Given the description of an element on the screen output the (x, y) to click on. 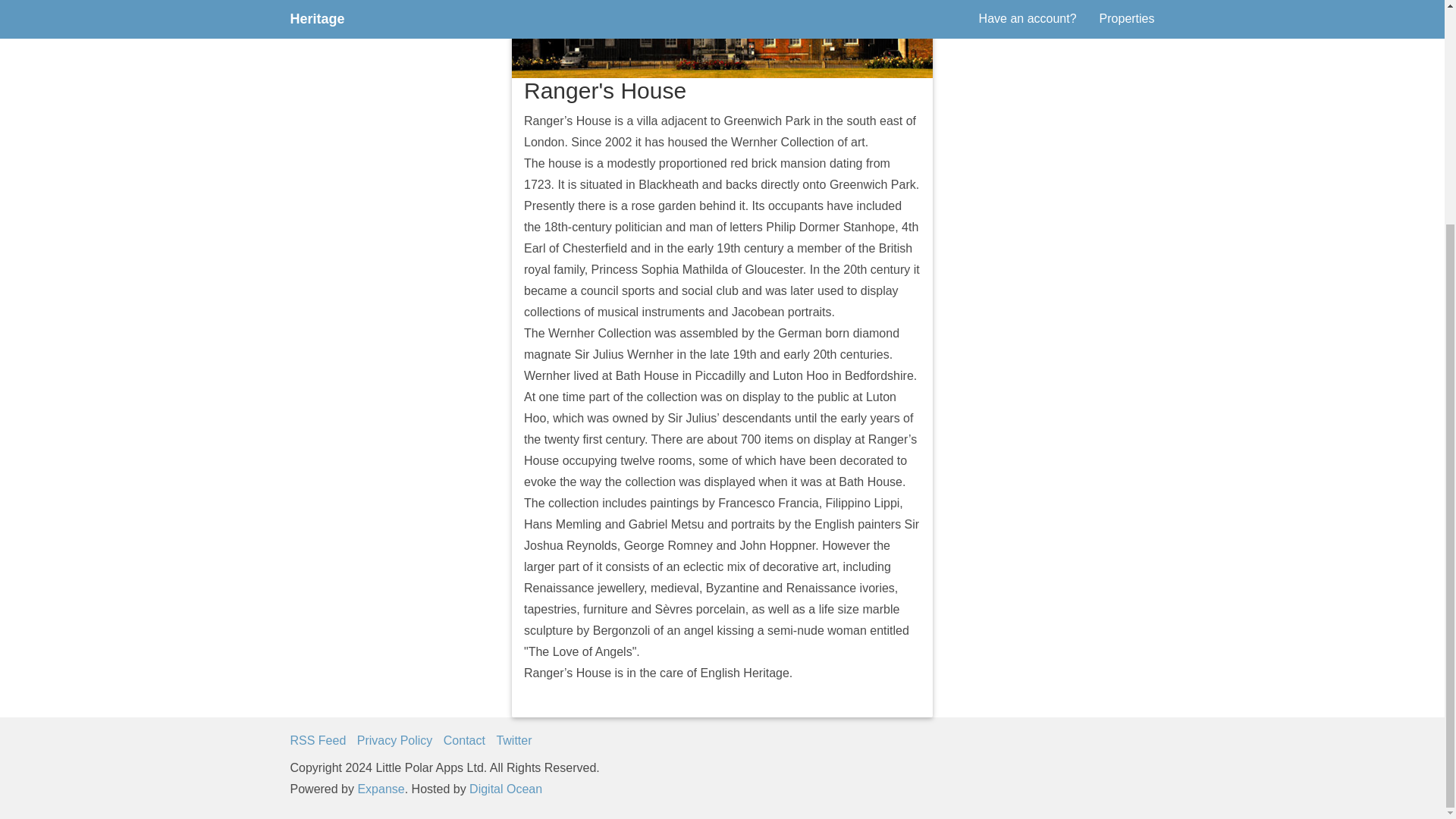
Digital Ocean (504, 788)
Contact (464, 739)
Privacy Policy (394, 739)
Contact (464, 739)
Digital Ocean (504, 788)
RSS Feed (317, 739)
Expanse (380, 788)
Twitter (513, 739)
RSS Feed (317, 739)
